Given the description of an element on the screen output the (x, y) to click on. 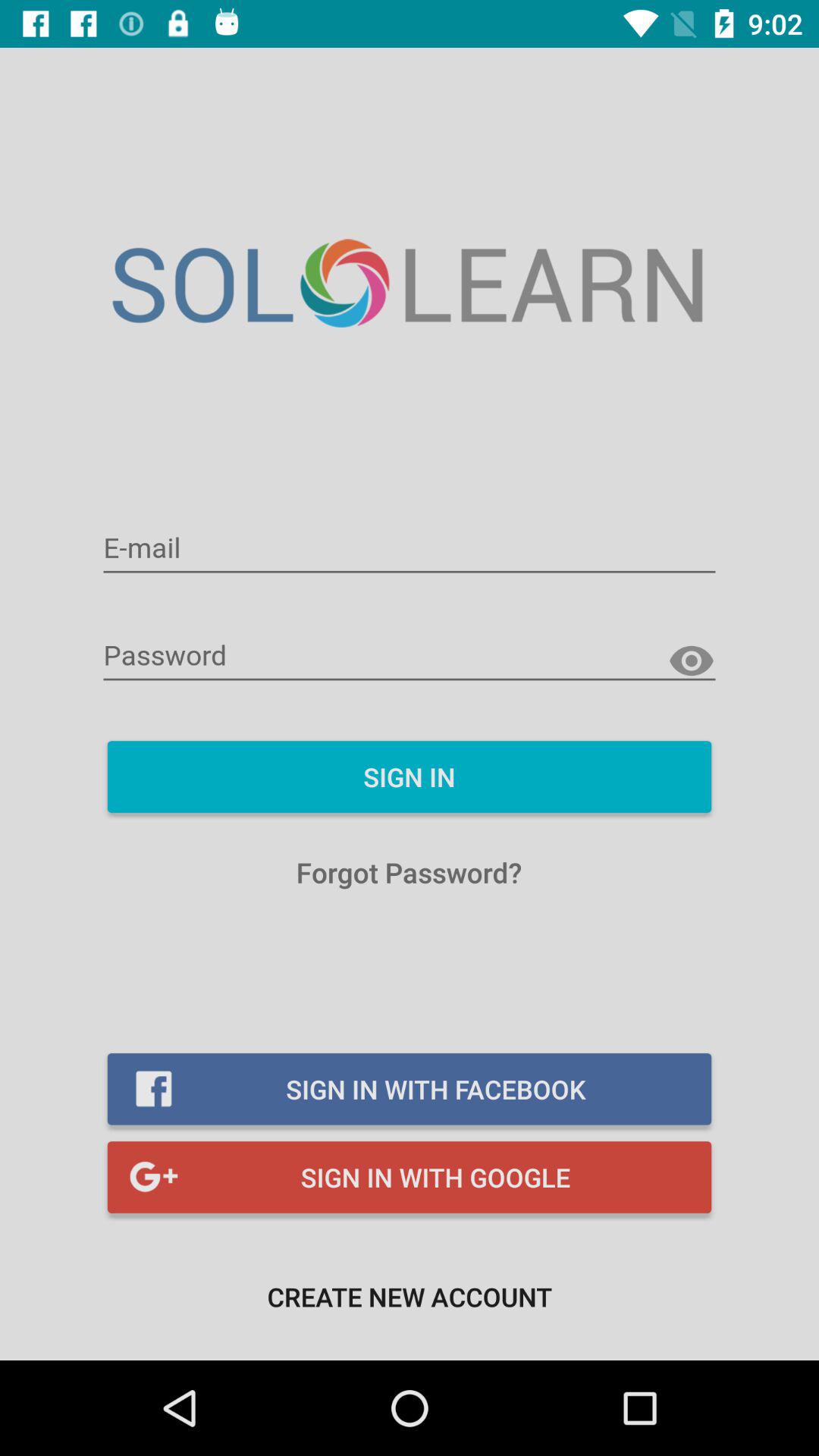
email signin (409, 548)
